Given the description of an element on the screen output the (x, y) to click on. 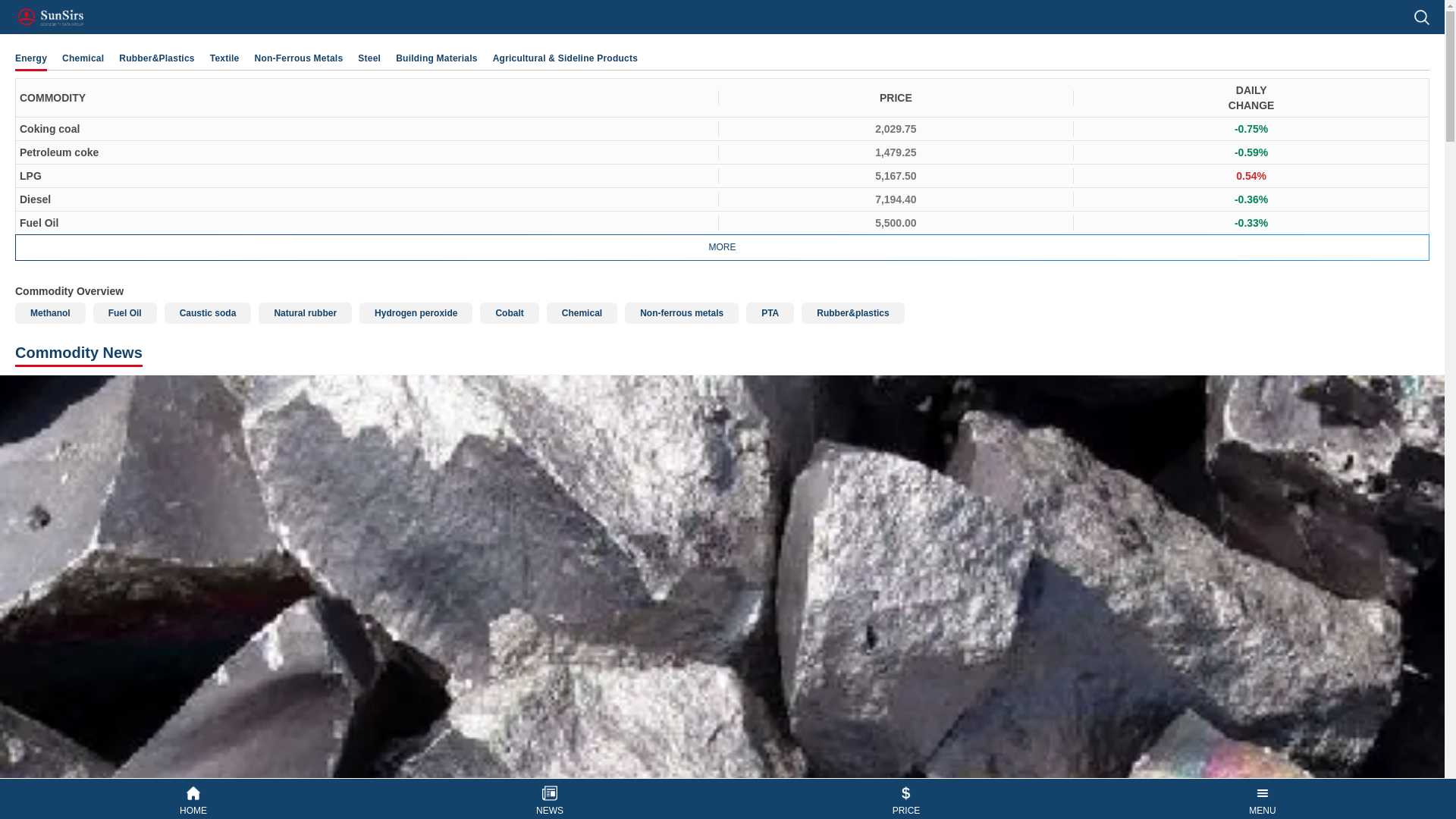
Chemical (82, 58)
Energy (30, 58)
Non-ferrous metals (681, 312)
MORE (722, 247)
Chemical (582, 312)
Cobalt (509, 312)
Non-Ferrous Metals (298, 58)
Hydrogen peroxide (415, 312)
Methanol (49, 312)
Textile (224, 58)
PTA (769, 312)
Building Materials (436, 58)
Fuel Oil (125, 312)
Natural rubber (305, 312)
Caustic soda (207, 312)
